Given the description of an element on the screen output the (x, y) to click on. 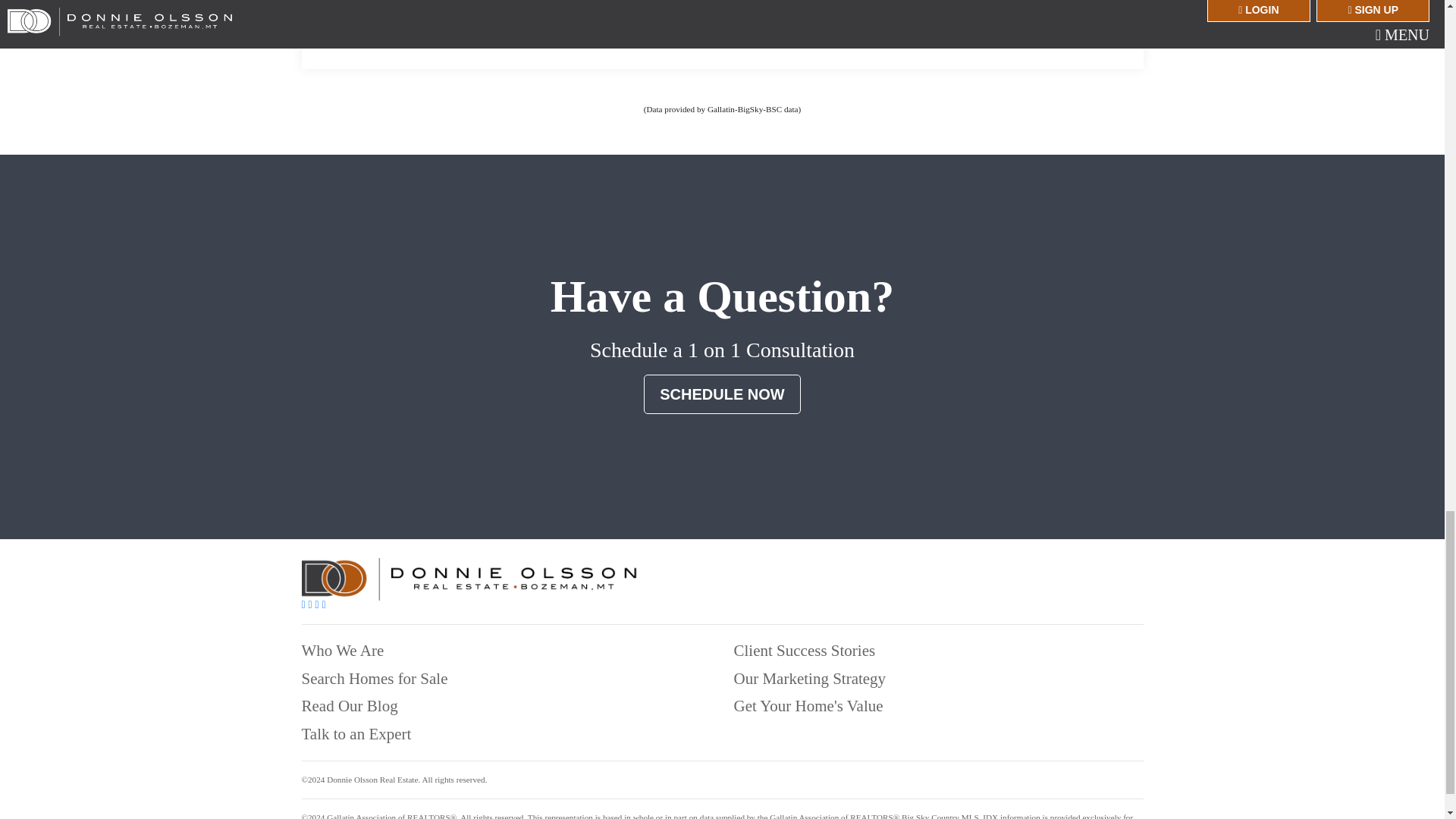
SCHEDULE NOW (721, 394)
Who We Are (342, 650)
